Given the description of an element on the screen output the (x, y) to click on. 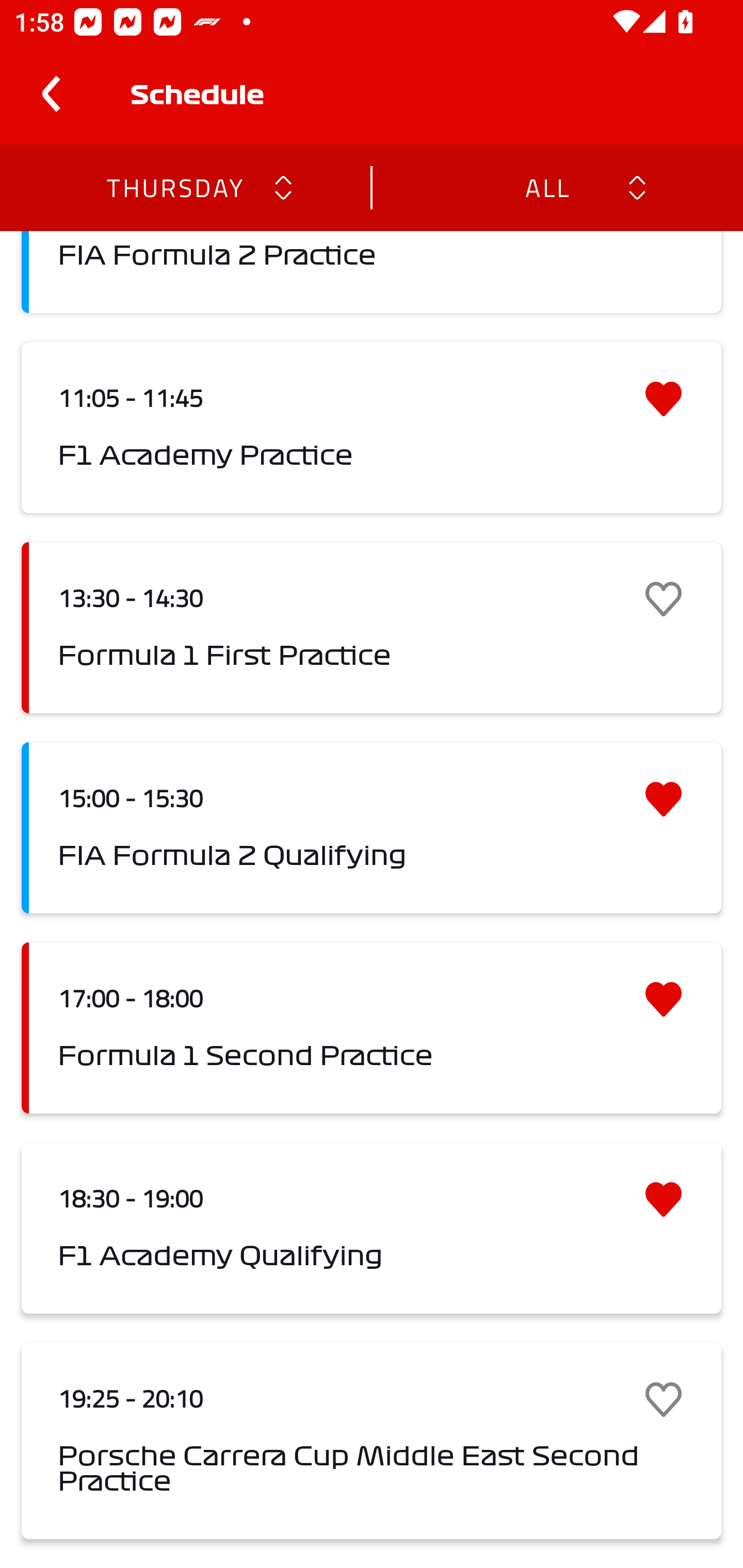
Navigate up (50, 93)
THURSDAY (174, 187)
ALL (546, 187)
FIA Formula 2 Practice (371, 271)
11:05 - 11:45 F1 Academy Practice (371, 426)
13:30 - 14:30 Formula 1 First Practice (371, 627)
15:00 - 15:30 FIA Formula 2 Qualifying (371, 827)
17:00 - 18:00 Formula 1 Second Practice (371, 1027)
18:30 - 19:00 F1 Academy Qualifying (371, 1228)
